Given the description of an element on the screen output the (x, y) to click on. 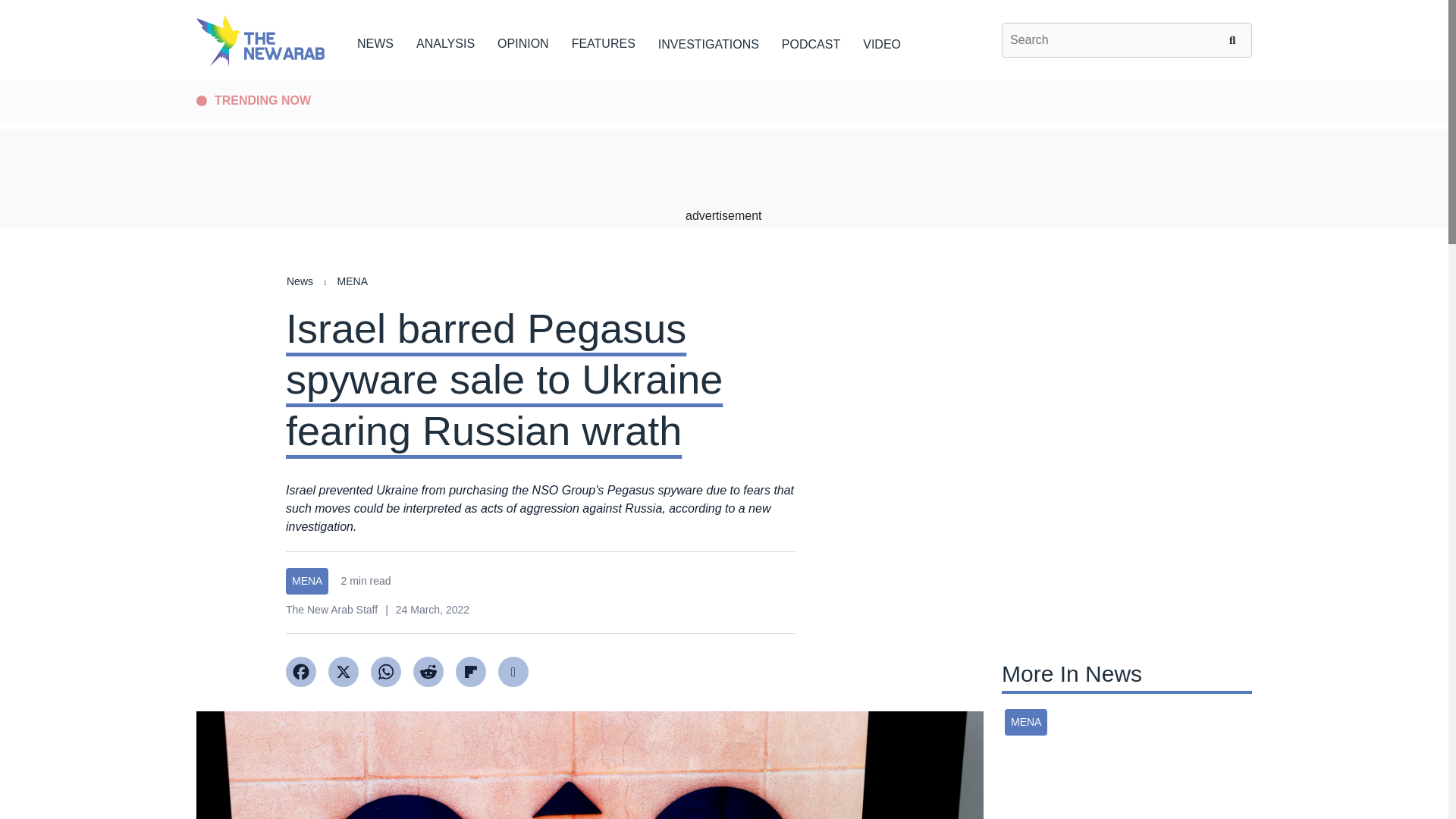
ANALYSIS (445, 41)
Skip to main content (724, 81)
NEWS (375, 41)
Search (1234, 39)
OPINION (523, 41)
